Given the description of an element on the screen output the (x, y) to click on. 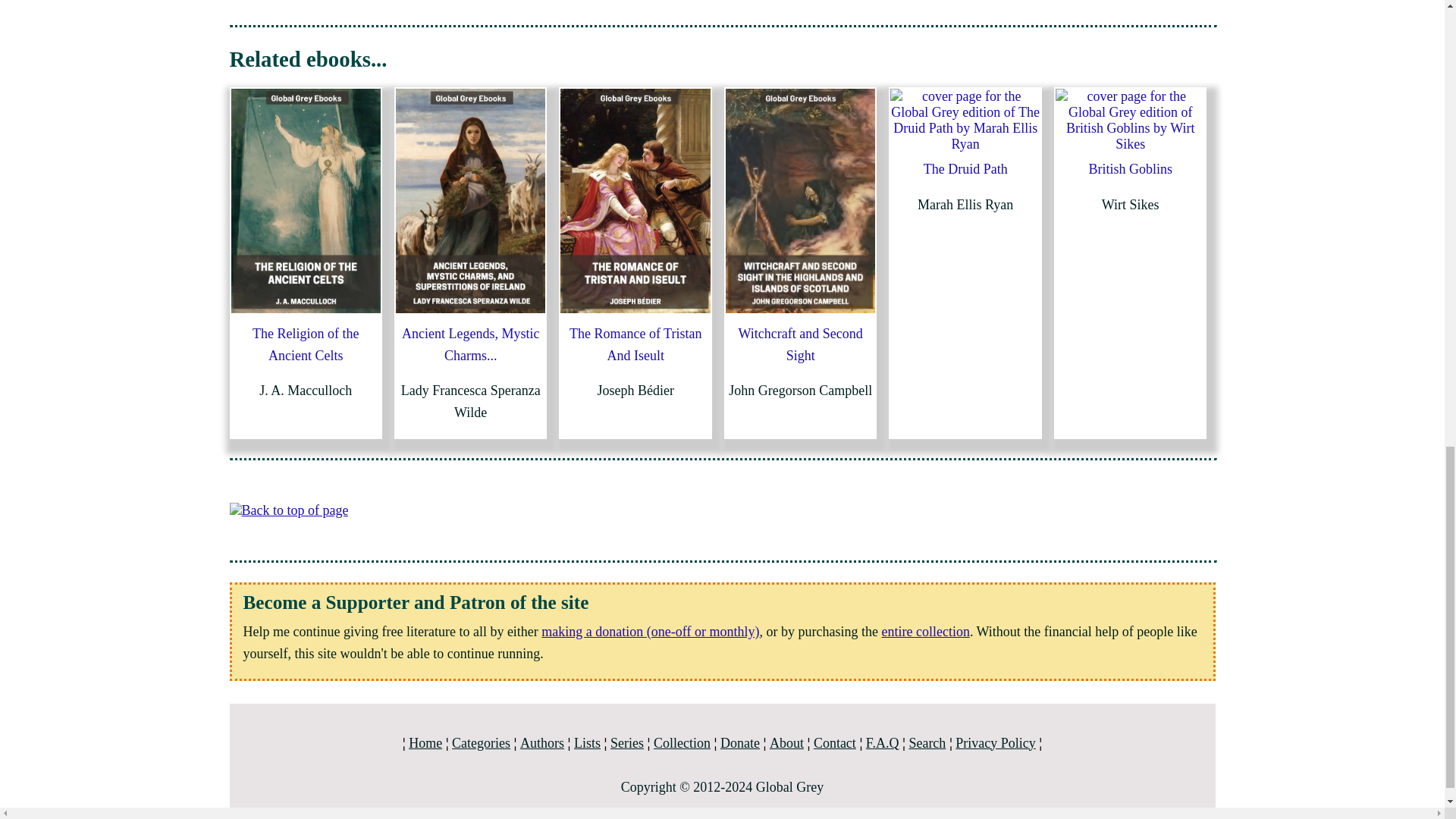
The Romance of Tristan And Iseult (635, 344)
Ancient Legends, Mystic Charms... (469, 344)
The Religion of the Ancient Celts (304, 344)
